Given the description of an element on the screen output the (x, y) to click on. 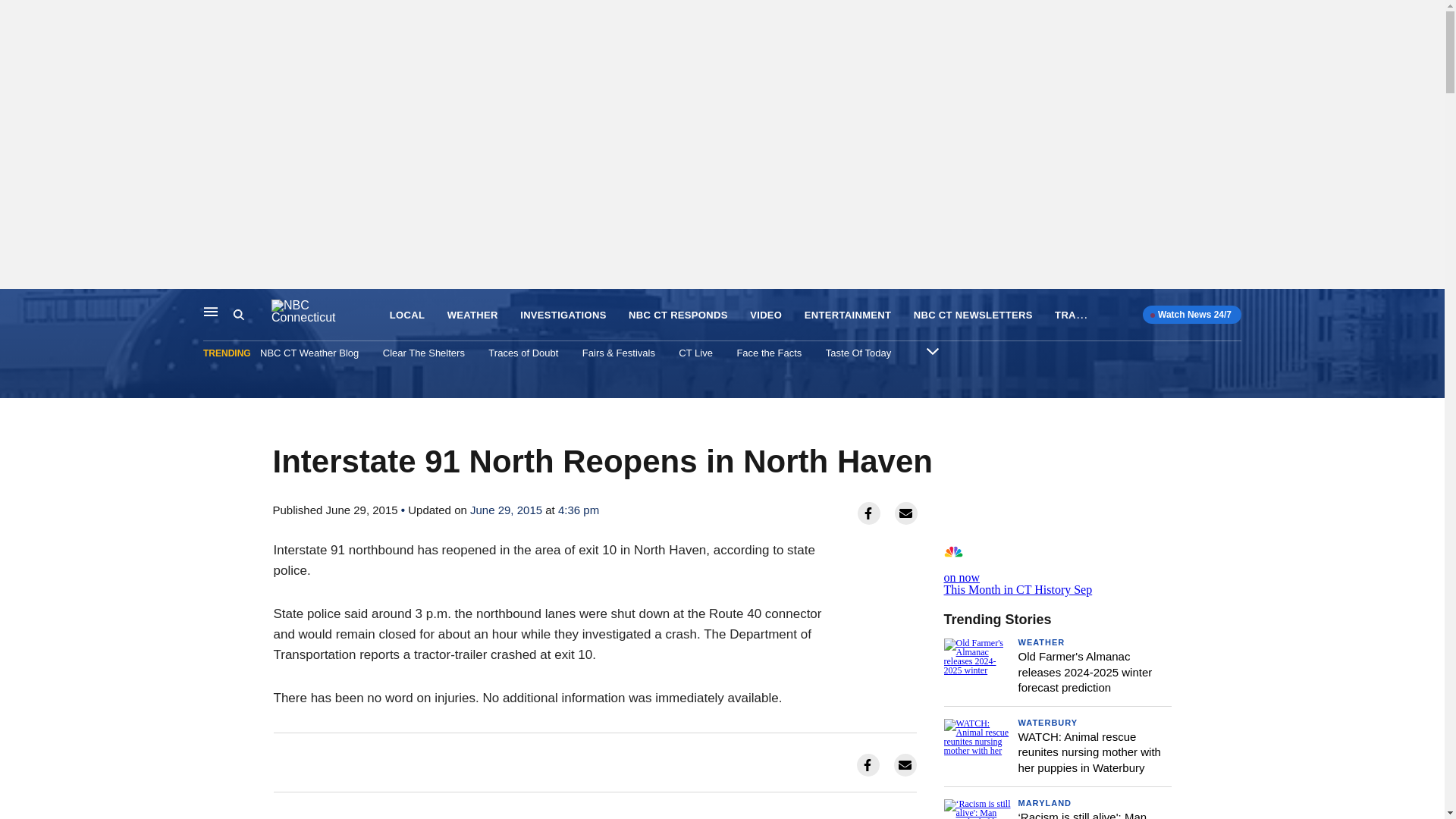
LOCAL (407, 315)
Taste Of Today (858, 352)
Skip to content (16, 304)
Traces of Doubt (522, 352)
WATERBURY (1047, 722)
TRAFFIC (1076, 314)
NBC CT NEWSLETTERS (973, 315)
Clear The Shelters (423, 352)
